Given the description of an element on the screen output the (x, y) to click on. 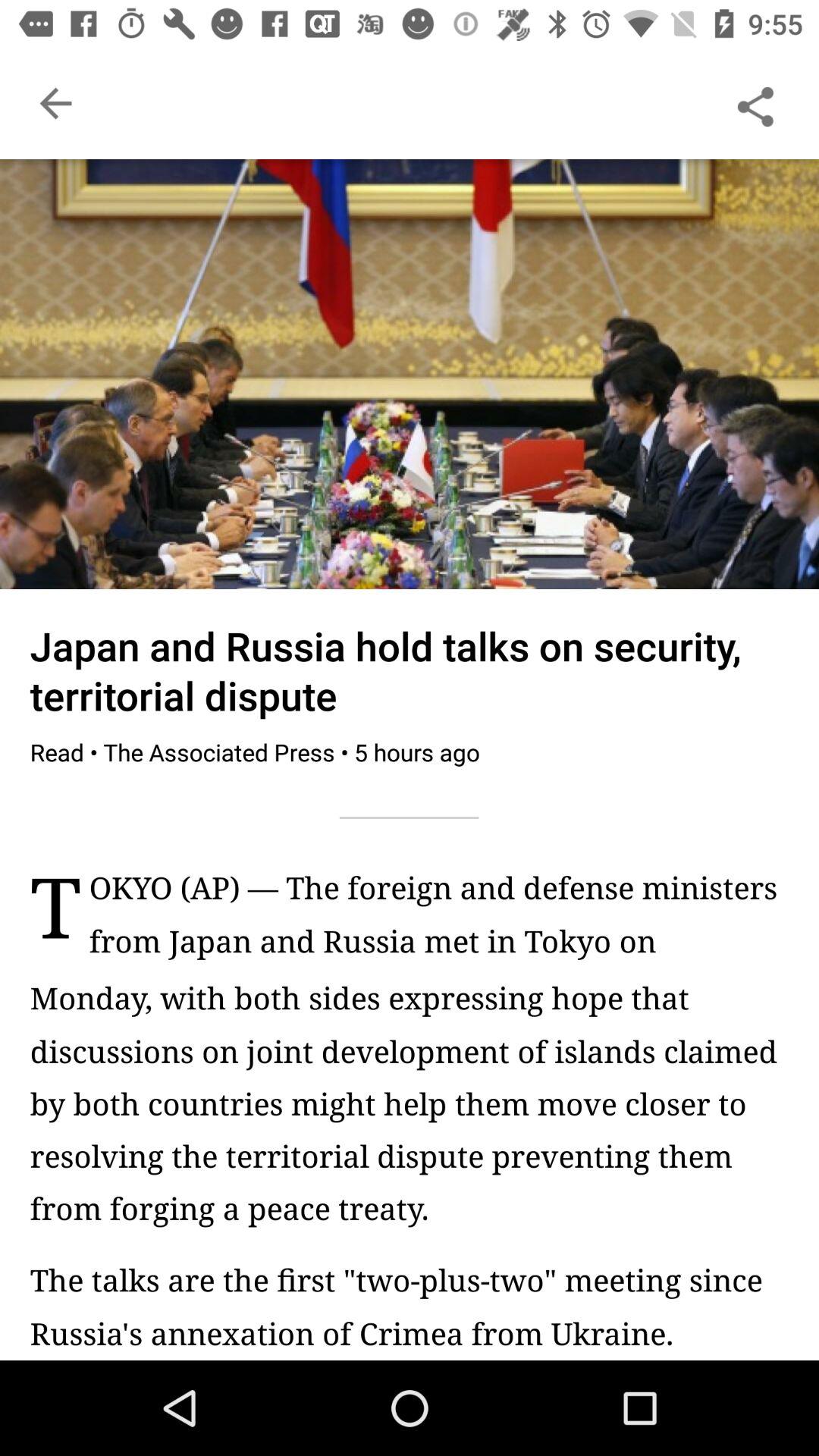
choose the item below the monday with both (409, 1306)
